Given the description of an element on the screen output the (x, y) to click on. 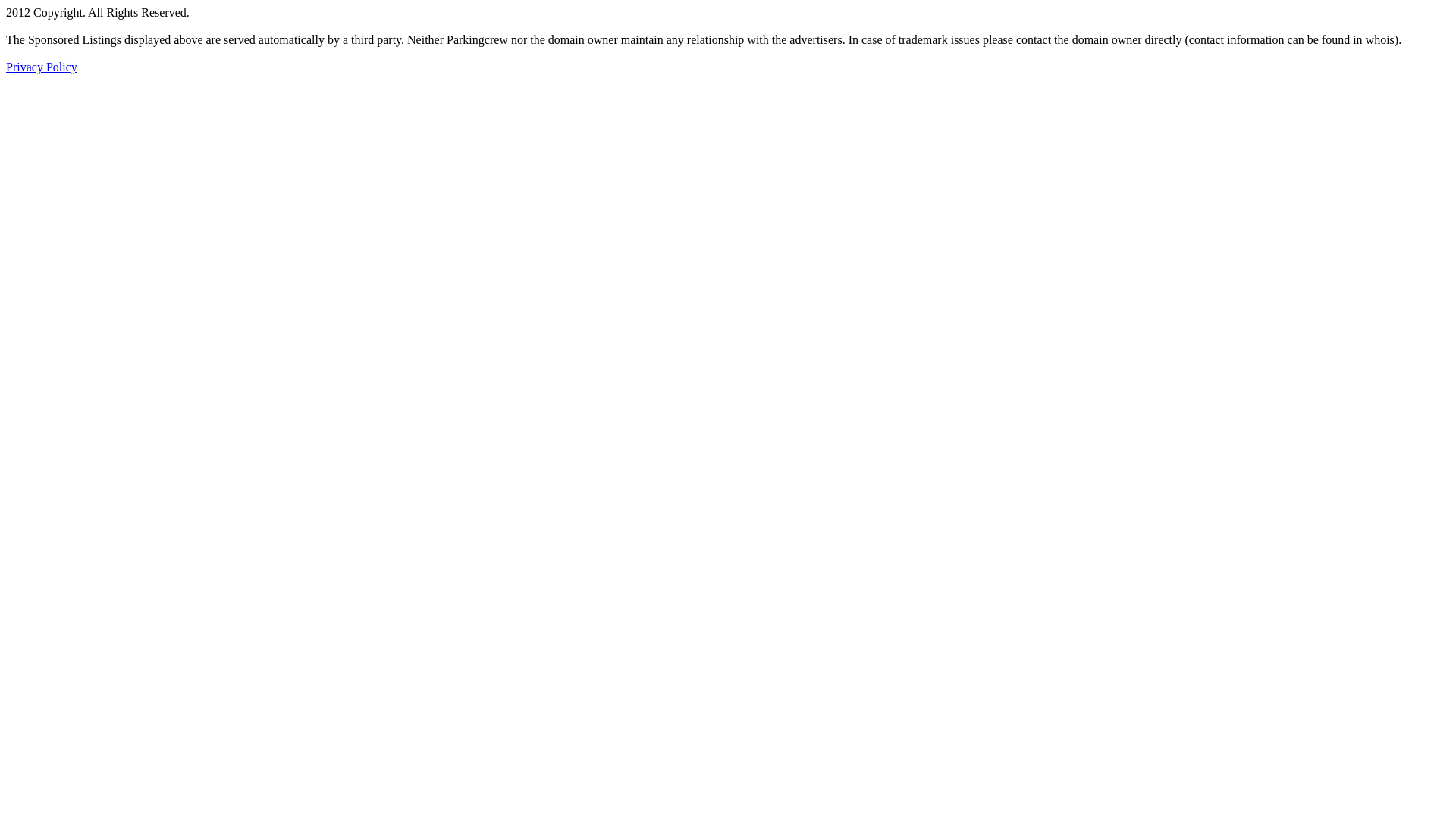
Privacy Policy Element type: text (41, 66)
